Given the description of an element on the screen output the (x, y) to click on. 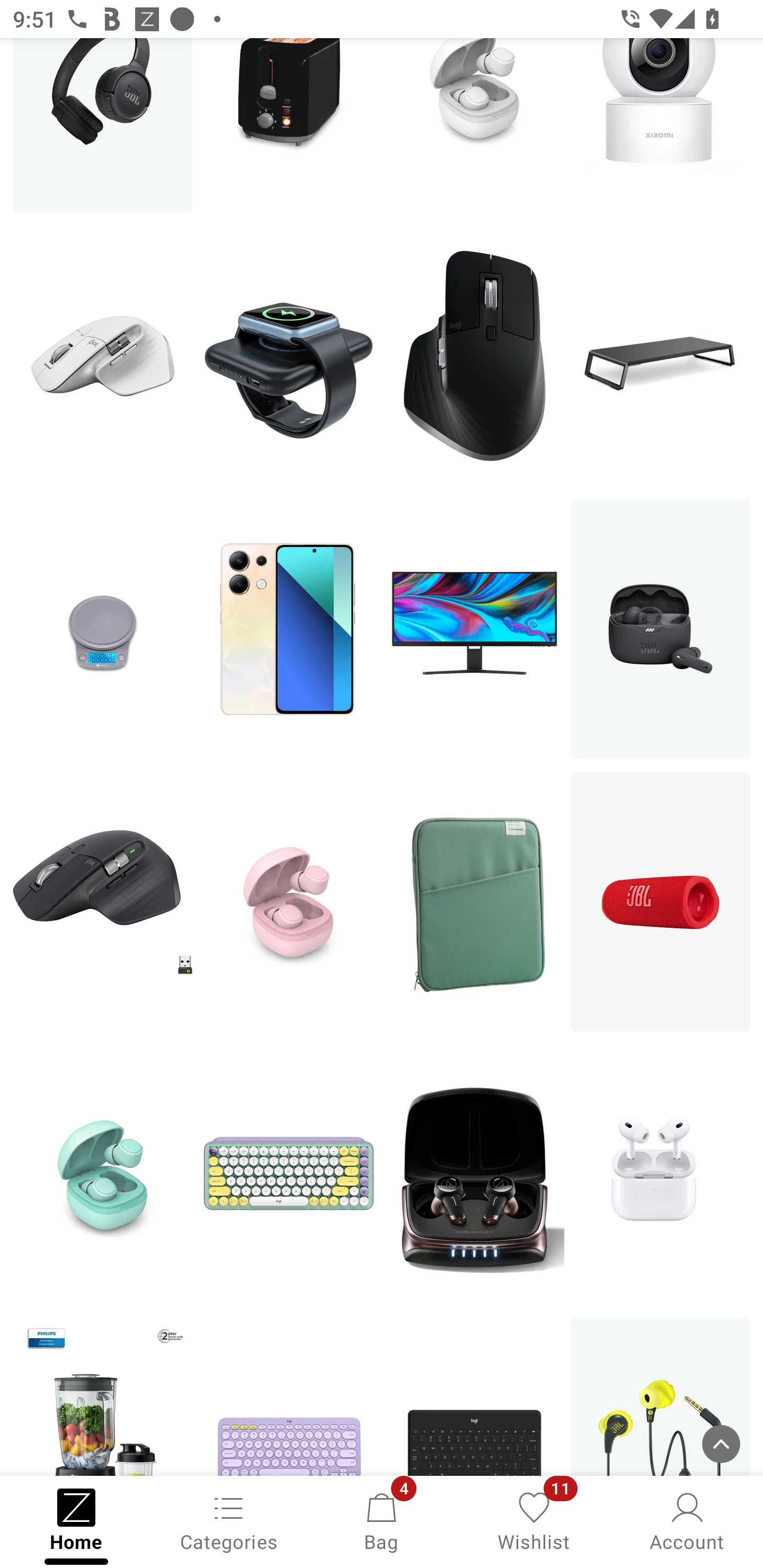
Categories (228, 1519)
Bag, 4 new notifications Bag (381, 1519)
Wishlist, 11 new notifications Wishlist (533, 1519)
Account (686, 1519)
